Given the description of an element on the screen output the (x, y) to click on. 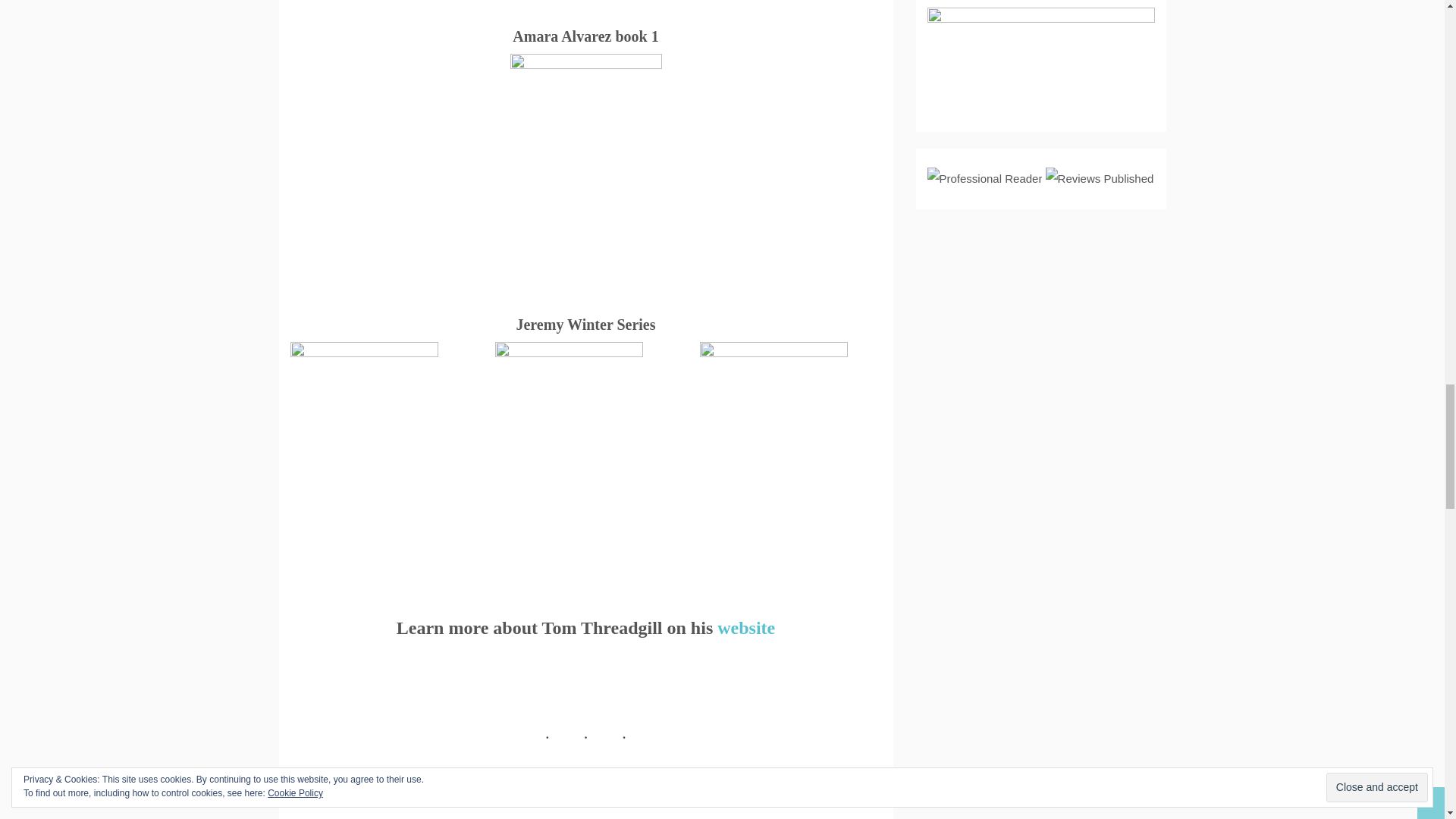
website (745, 628)
Reviews Published (1099, 178)
Professional Reader (984, 178)
